Given the description of an element on the screen output the (x, y) to click on. 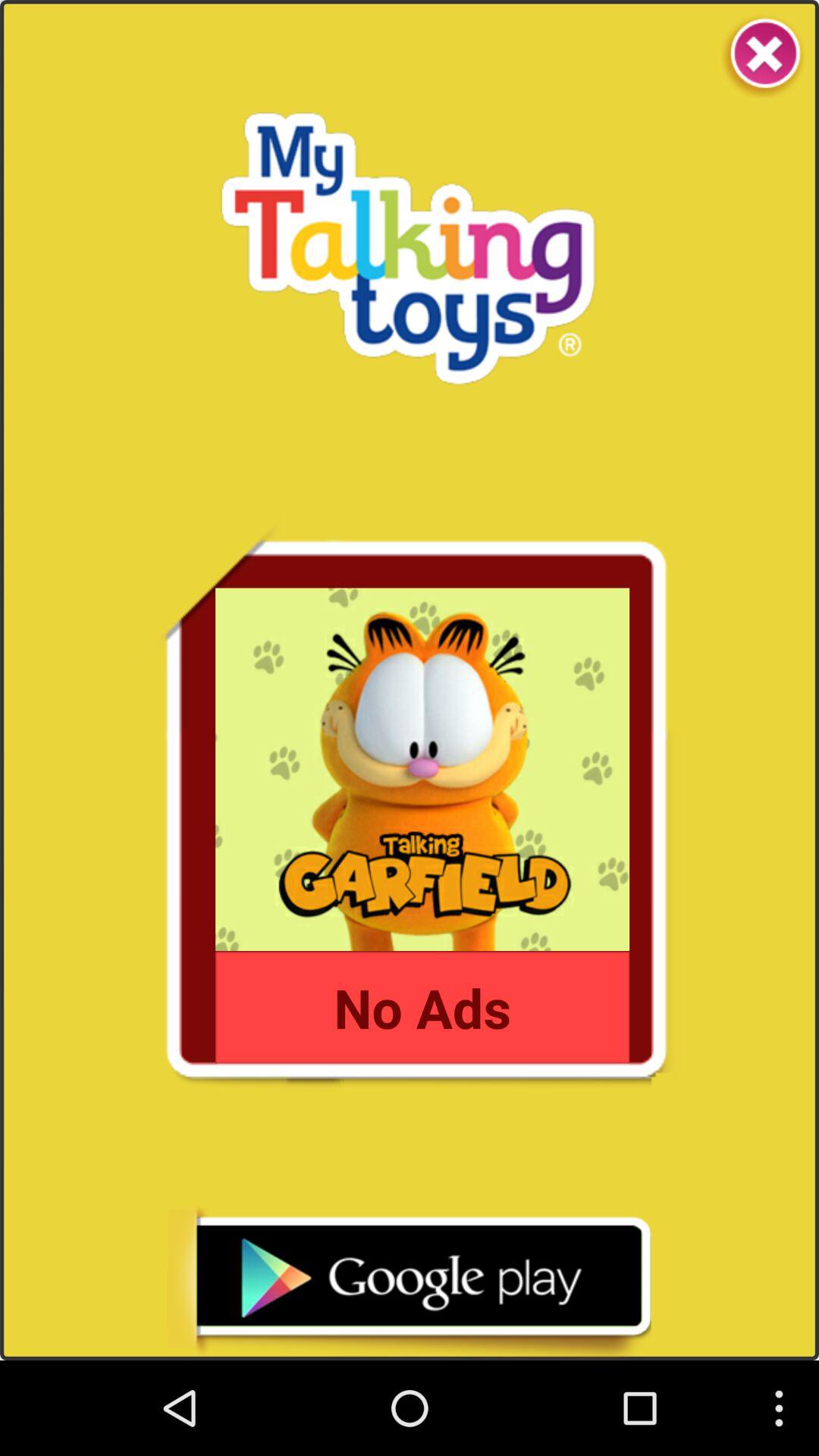
announcement (409, 1283)
